Given the description of an element on the screen output the (x, y) to click on. 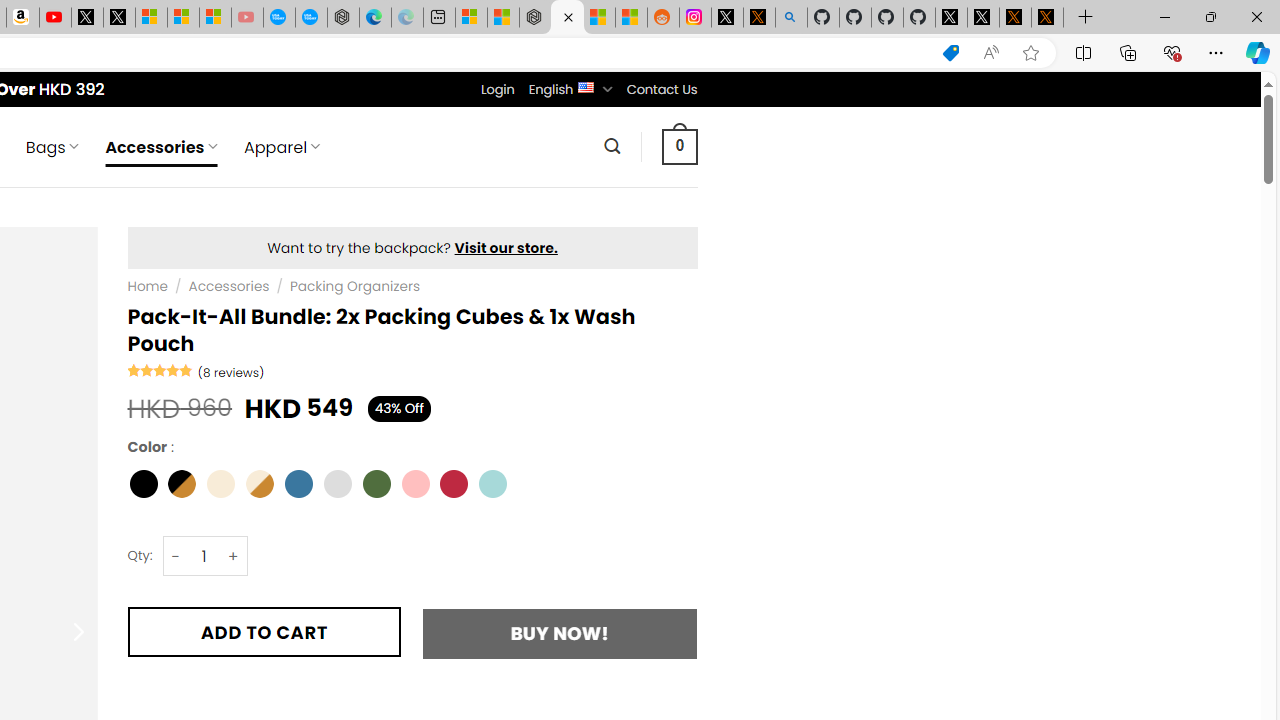
Profile / X (950, 17)
BUY NOW! (559, 632)
Search (612, 146)
Microsoft account | Microsoft Account Privacy Settings (471, 17)
(8 reviews) (230, 372)
